Given the description of an element on the screen output the (x, y) to click on. 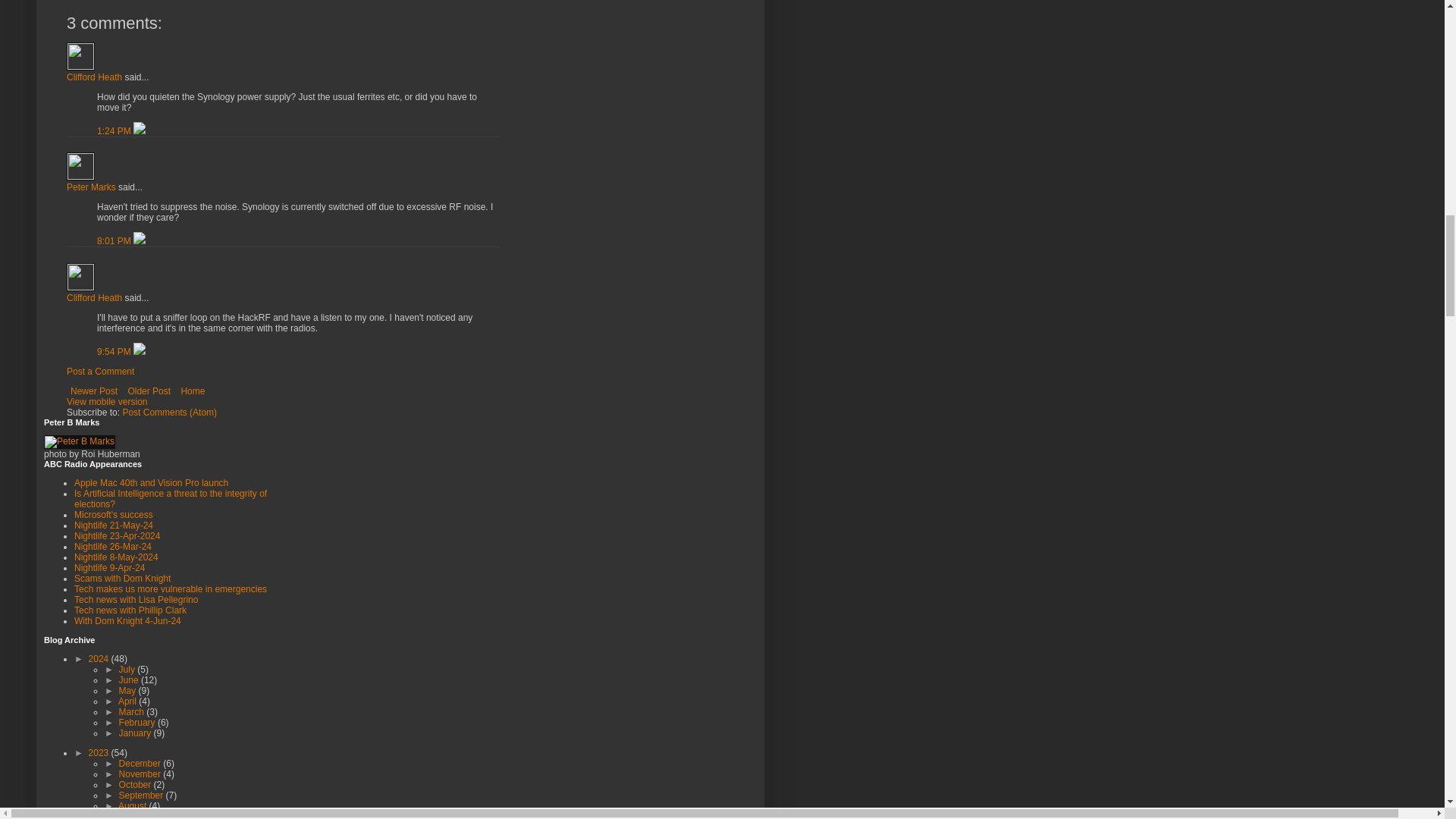
Older Post (148, 391)
Home (192, 391)
Post a Comment (99, 371)
View mobile version (107, 401)
8:01 PM (115, 240)
Apple Mac 40th and Vision Pro launch (151, 482)
Peter Marks (80, 166)
Delete Comment (139, 240)
comment permalink (115, 131)
Newer Post (93, 391)
Clifford Heath (94, 297)
comment permalink (115, 240)
Peter Marks (91, 186)
9:54 PM (115, 351)
